Given the description of an element on the screen output the (x, y) to click on. 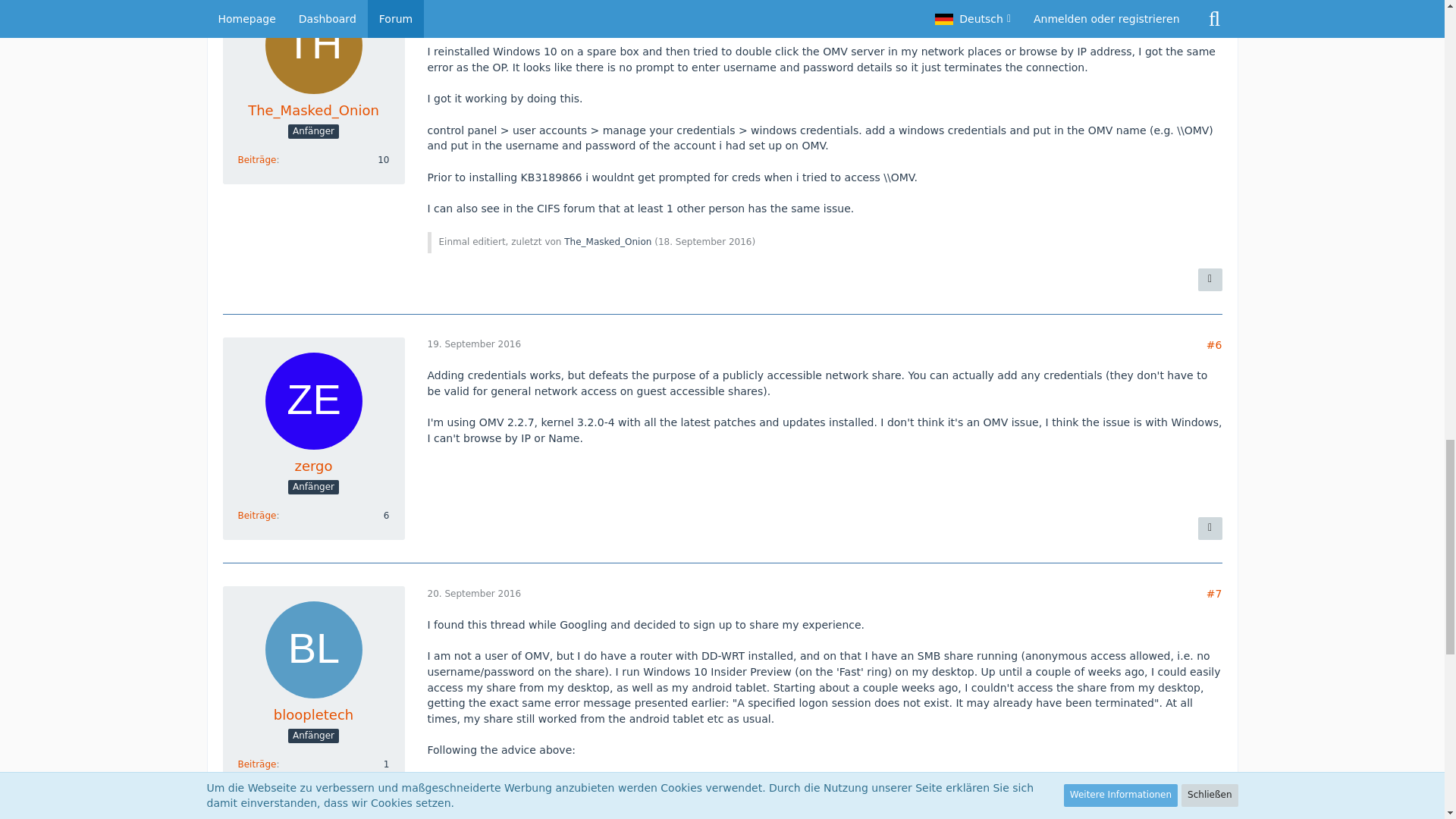
19. September 2016, 14:46 (474, 344)
18. September 2016, 00:11 (705, 241)
20. September 2016, 12:09 (474, 593)
